Given the description of an element on the screen output the (x, y) to click on. 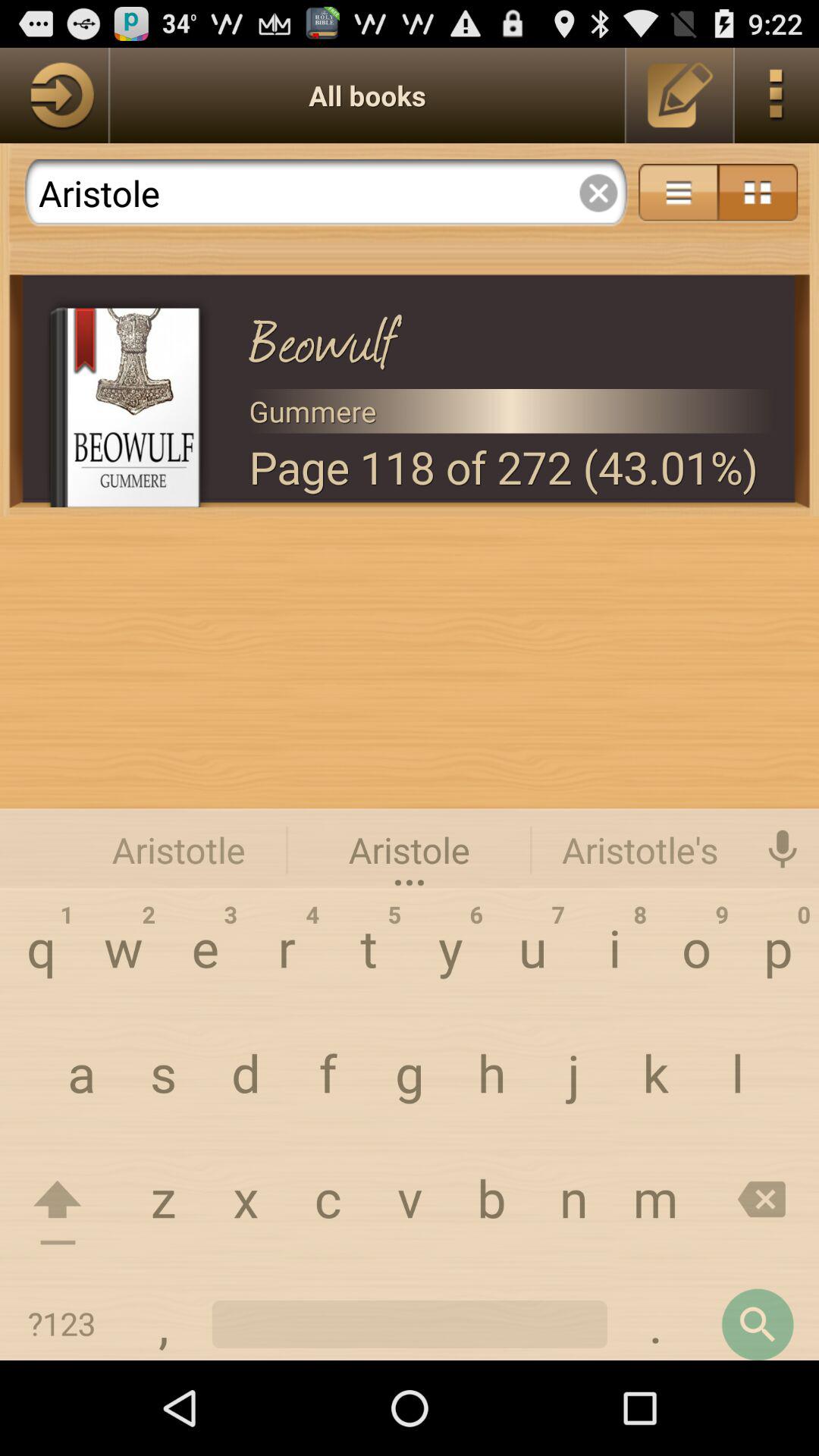
list all books (54, 95)
